Given the description of an element on the screen output the (x, y) to click on. 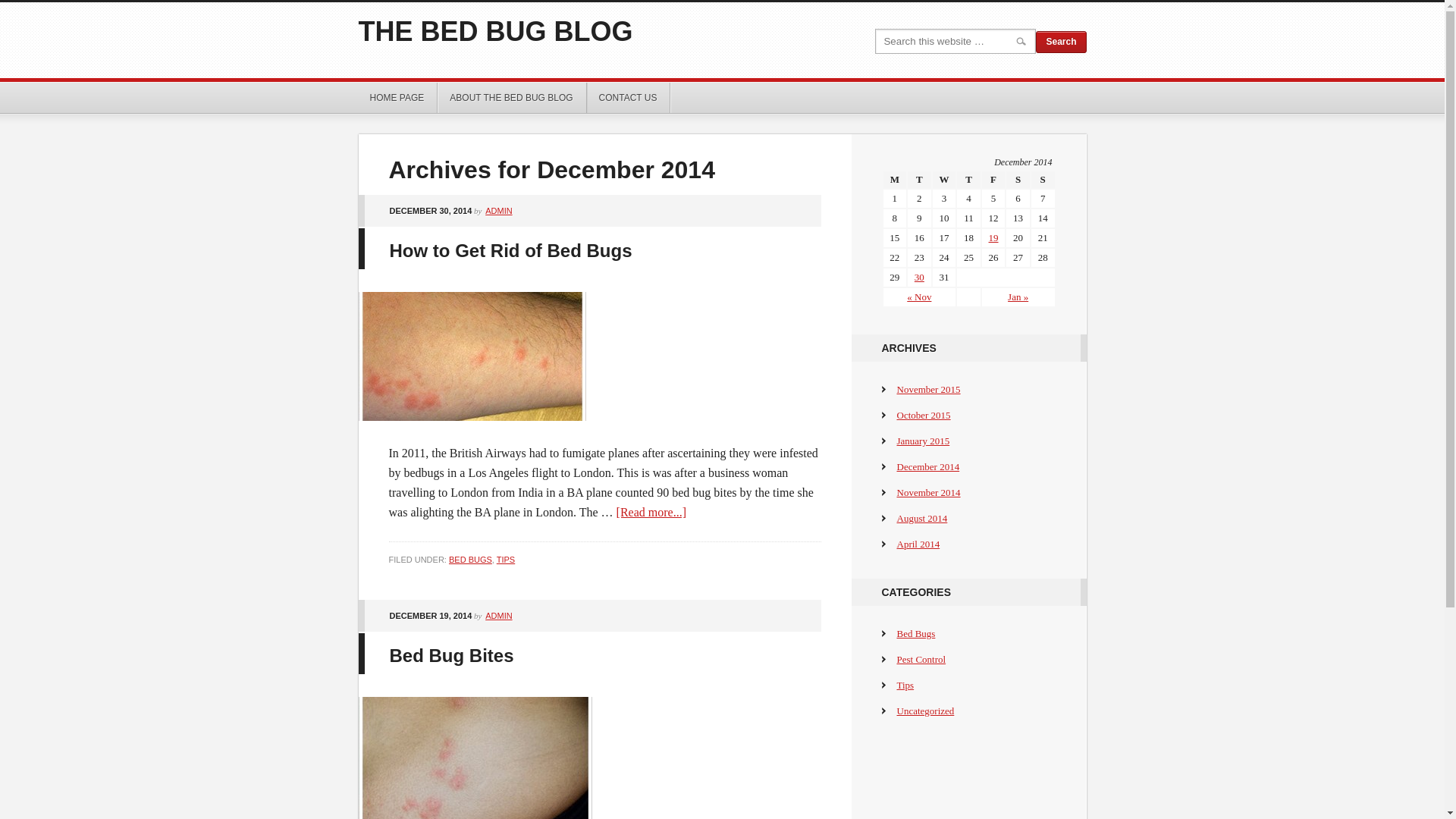
HOME PAGE Element type: text (396, 97)
August 2014 Element type: text (921, 518)
Search Element type: text (1060, 42)
How to Get Rid of Bed Bugs Element type: text (510, 250)
April 2014 Element type: text (917, 543)
CONTACT US Element type: text (628, 97)
Bed Bug Bites Element type: text (451, 655)
Pest Control Element type: text (920, 659)
ADMIN Element type: text (498, 615)
BED BUGS Element type: text (470, 559)
ABOUT THE BED BUG BLOG Element type: text (511, 97)
November 2015 Element type: text (928, 389)
[Read more...] Element type: text (651, 511)
TIPS Element type: text (505, 559)
October 2015 Element type: text (923, 414)
30 Element type: text (919, 276)
Bed Bugs Element type: text (915, 633)
THE BED BUG BLOG Element type: text (494, 31)
December 2014 Element type: text (927, 466)
ADMIN Element type: text (498, 210)
November 2014 Element type: text (928, 492)
19 Element type: text (993, 237)
Tips Element type: text (904, 684)
Uncategorized Element type: text (924, 710)
January 2015 Element type: text (922, 440)
